Given the description of an element on the screen output the (x, y) to click on. 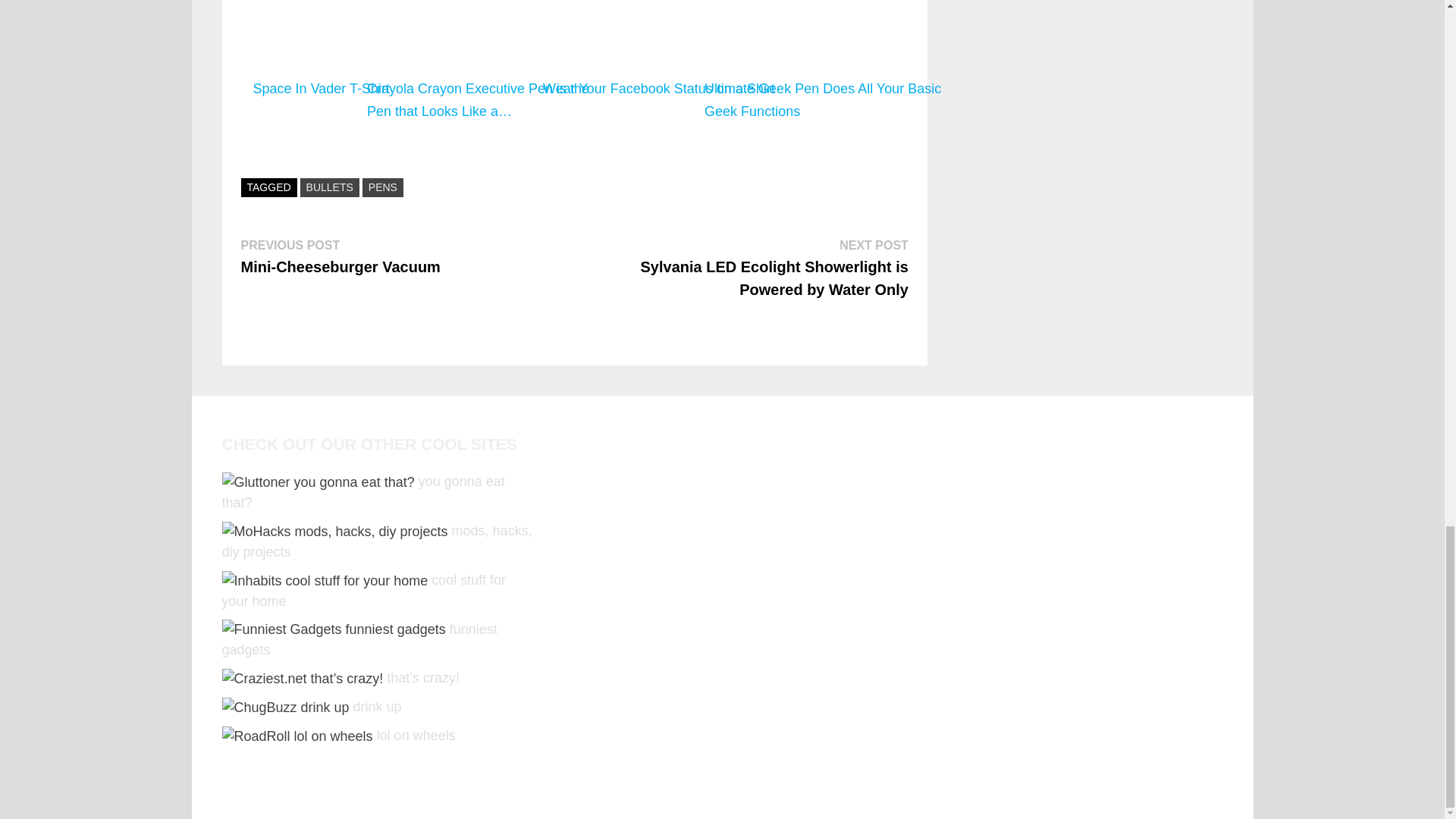
Wear Your Facebook Status on a Shirt (658, 63)
Ultimate Geek Pen Does All Your Basic Geek Functions (827, 63)
Space In Vader T-Shirt (320, 63)
PENS (382, 187)
BULLETS (341, 256)
